Given the description of an element on the screen output the (x, y) to click on. 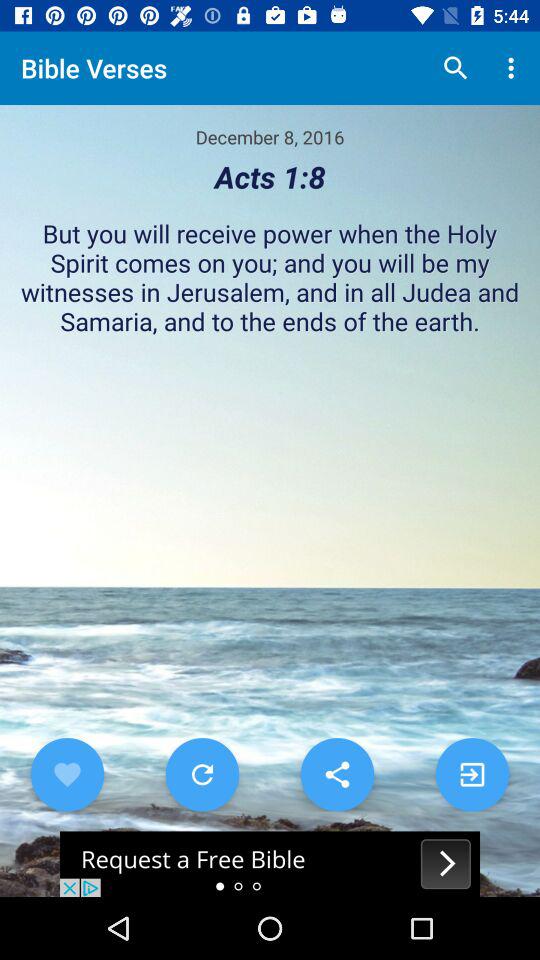
advertisement (270, 864)
